Given the description of an element on the screen output the (x, y) to click on. 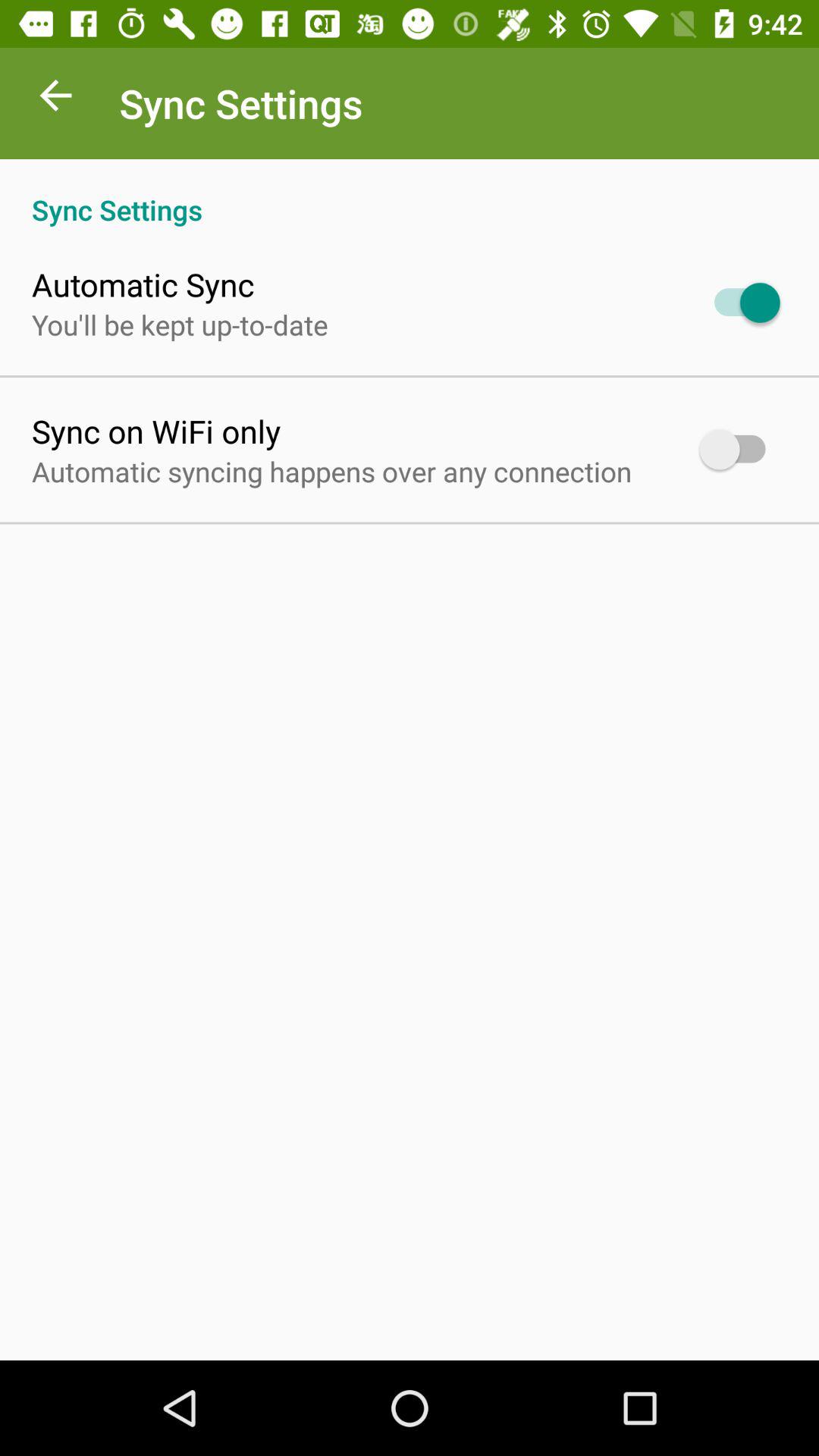
turn off item below sync on wifi app (331, 471)
